Given the description of an element on the screen output the (x, y) to click on. 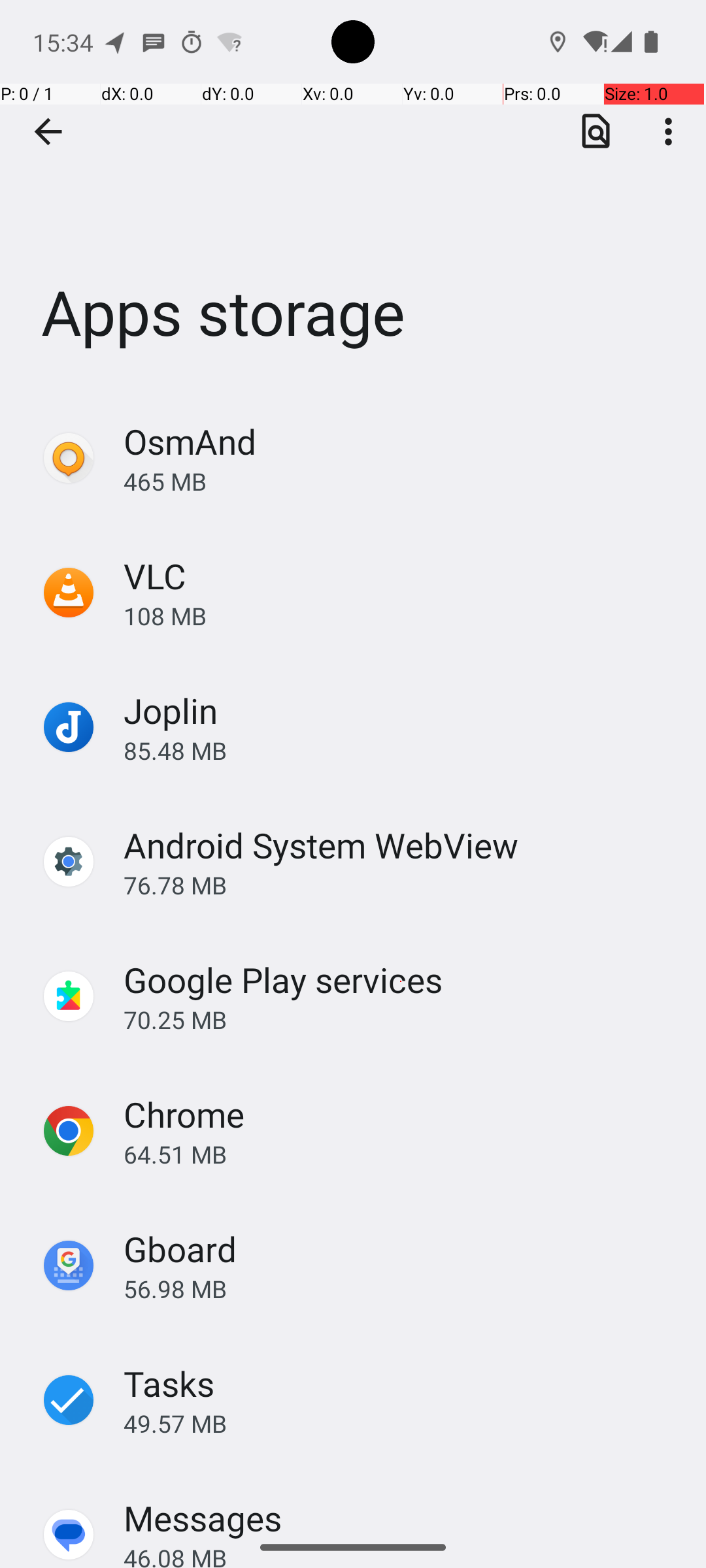
Apps storage Element type: android.widget.FrameLayout (353, 195)
465 MB Element type: android.widget.TextView (400, 480)
108 MB Element type: android.widget.TextView (400, 615)
85.48 MB Element type: android.widget.TextView (400, 750)
76.78 MB Element type: android.widget.TextView (400, 884)
70.25 MB Element type: android.widget.TextView (400, 1019)
64.51 MB Element type: android.widget.TextView (400, 1153)
Gboard Element type: android.widget.TextView (179, 1248)
56.98 MB Element type: android.widget.TextView (400, 1288)
49.57 MB Element type: android.widget.TextView (400, 1422)
